Given the description of an element on the screen output the (x, y) to click on. 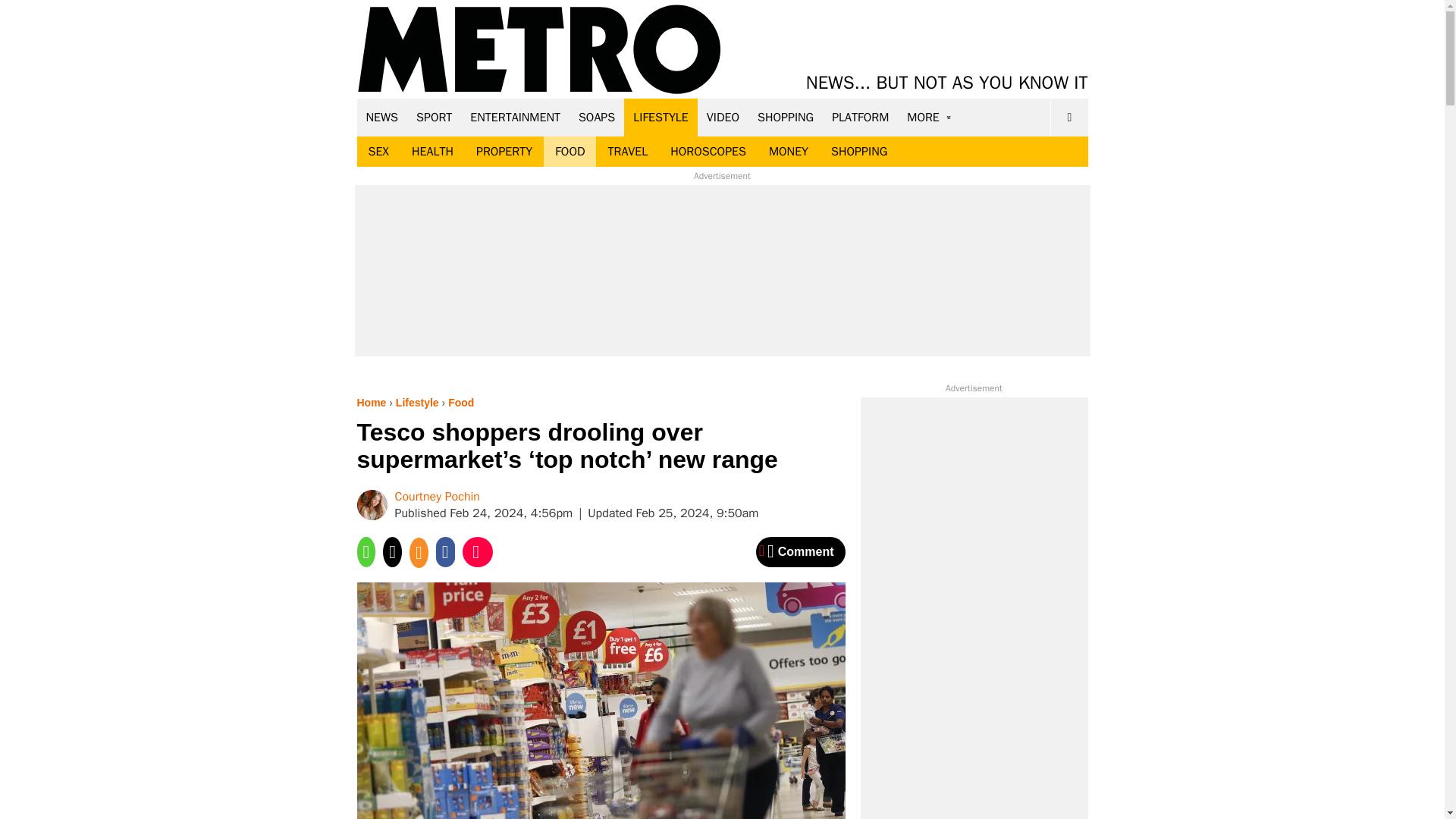
SOAPS (596, 117)
SPORT (434, 117)
LIFESTYLE (660, 117)
TRAVEL (627, 151)
PROPERTY (503, 151)
ENTERTAINMENT (515, 117)
FOOD (569, 151)
SEX (377, 151)
Metro (539, 50)
HEALTH (432, 151)
NEWS (381, 117)
